Given the description of an element on the screen output the (x, y) to click on. 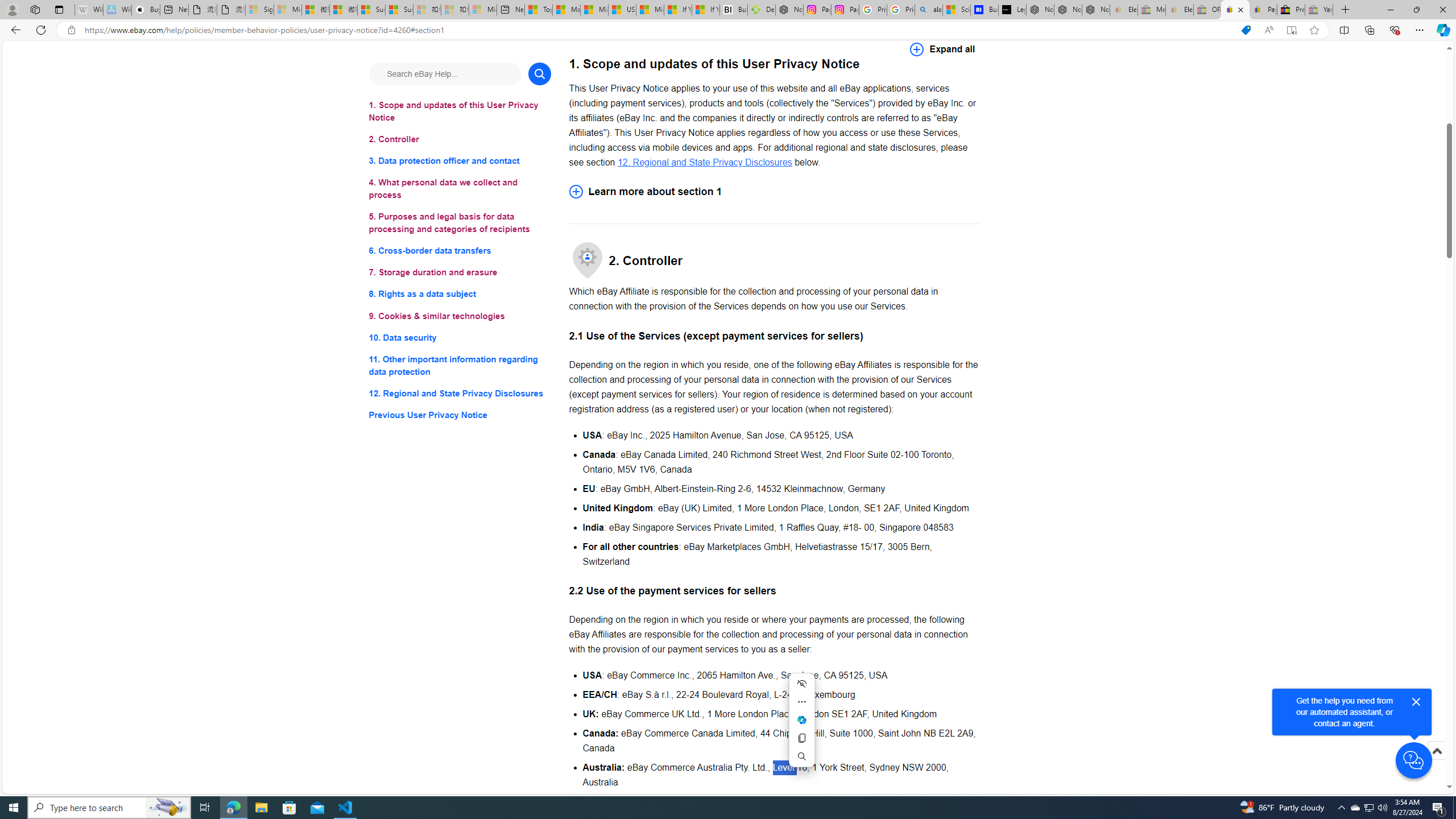
1. Scope and updates of this User Privacy Notice (459, 111)
Scroll to top (1435, 750)
Mini menu on text selection (802, 726)
9. Cookies & similar technologies (459, 315)
Payments Terms of Use | eBay.com (1262, 9)
Enter Immersive Reader (F9) (1291, 29)
Search eBay Help... (444, 73)
2. Controller (459, 138)
